Given the description of an element on the screen output the (x, y) to click on. 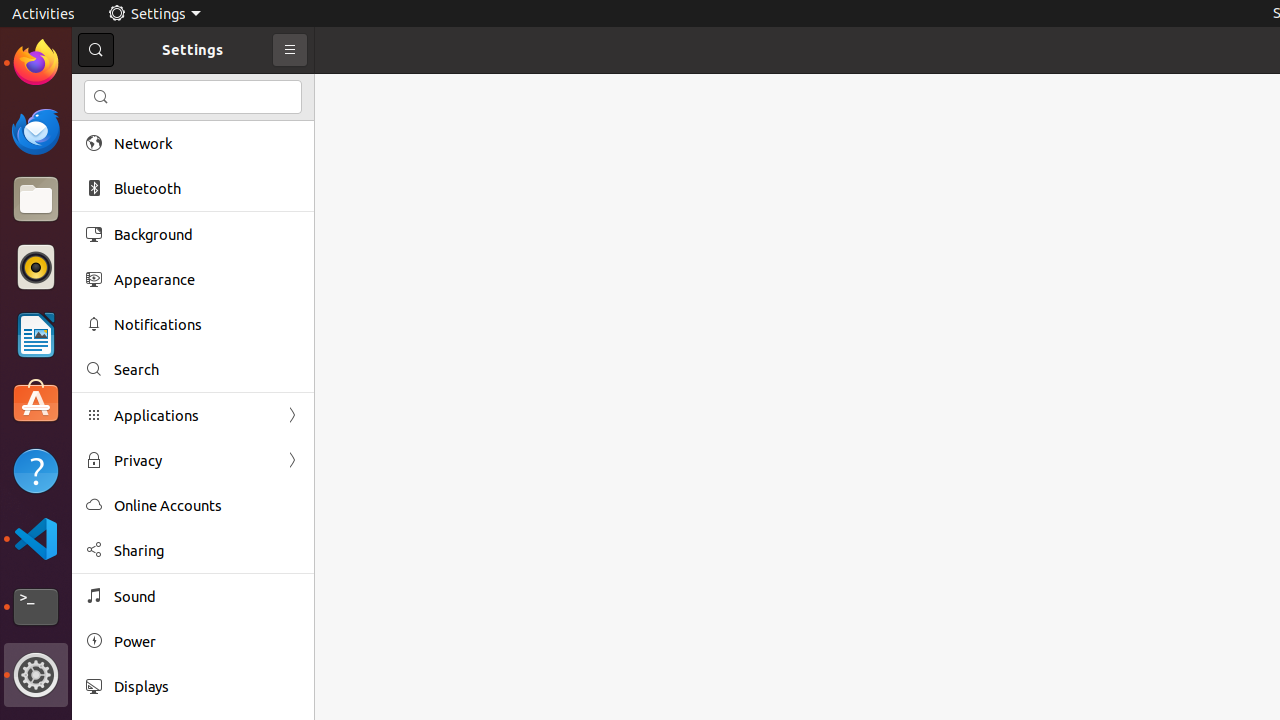
Privacy Element type: label (193, 460)
Search Element type: text (193, 97)
luyi1 Element type: label (133, 89)
Terminal Element type: push-button (36, 607)
Firefox Web Browser Element type: push-button (36, 63)
